Given the description of an element on the screen output the (x, y) to click on. 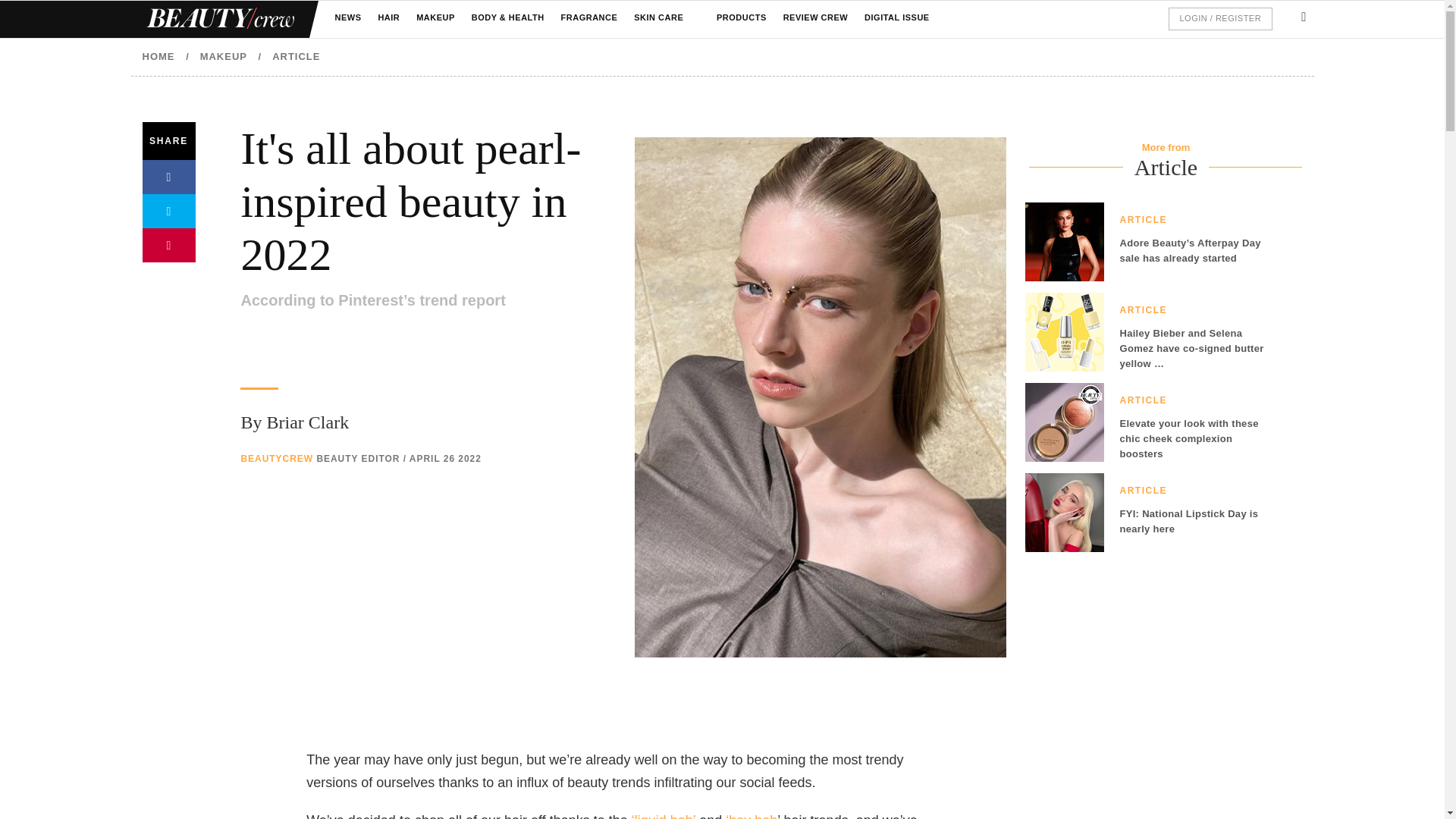
MAKEUP (435, 18)
Home (218, 18)
NEWS (347, 18)
HAIR (387, 18)
